Given the description of an element on the screen output the (x, y) to click on. 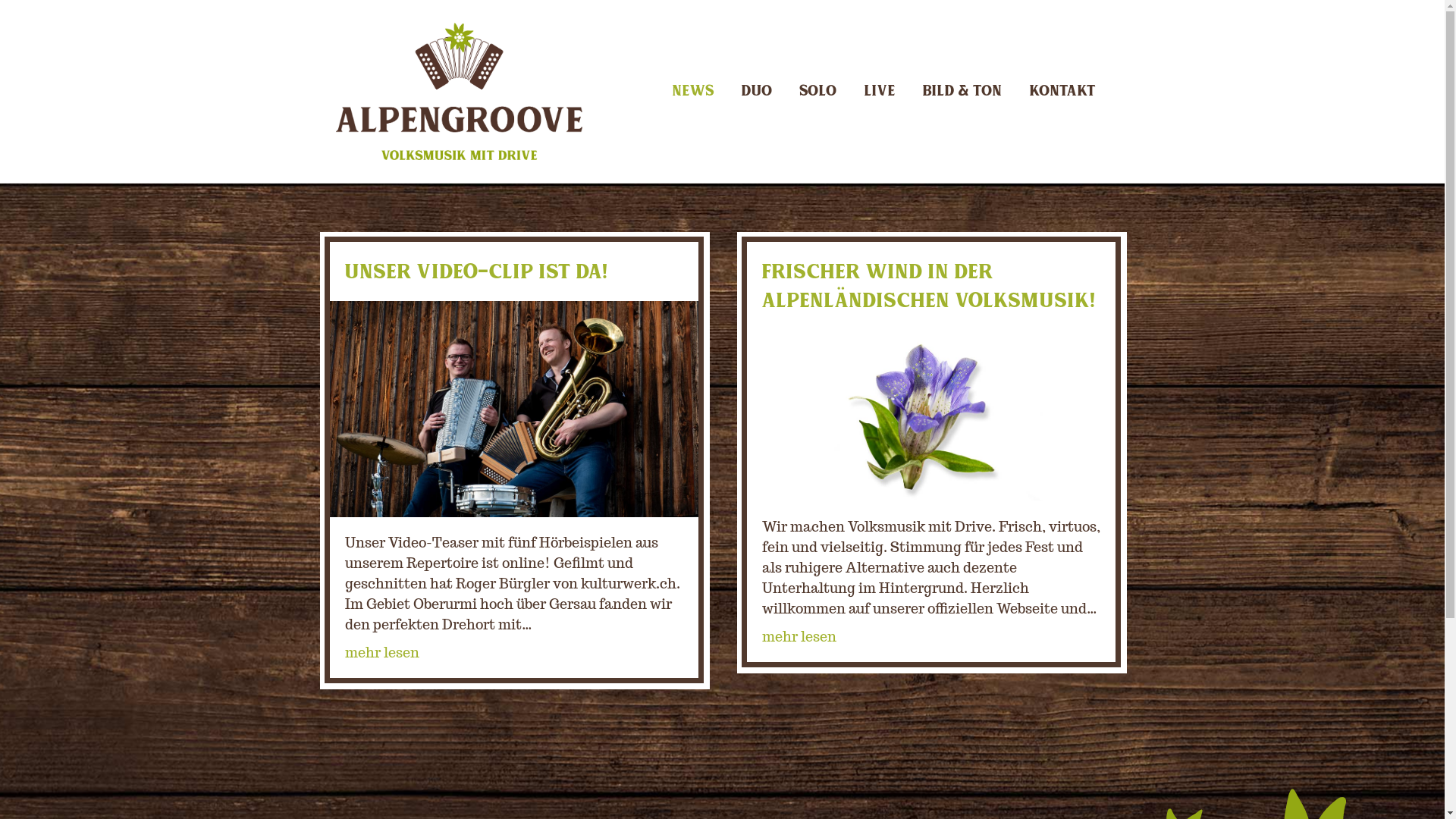
mehr lesen Element type: text (381, 652)
LIVE Element type: text (879, 90)
KONTAKT Element type: text (1062, 90)
BILD & TON Element type: text (961, 90)
DUO Element type: text (757, 90)
mehr lesen Element type: text (798, 636)
Unser Video-Clip ist da! Element type: hover (513, 407)
SOLO Element type: text (817, 90)
Unser Video-Clip ist da! Element type: text (476, 270)
NEWS Element type: text (692, 90)
